Given the description of an element on the screen output the (x, y) to click on. 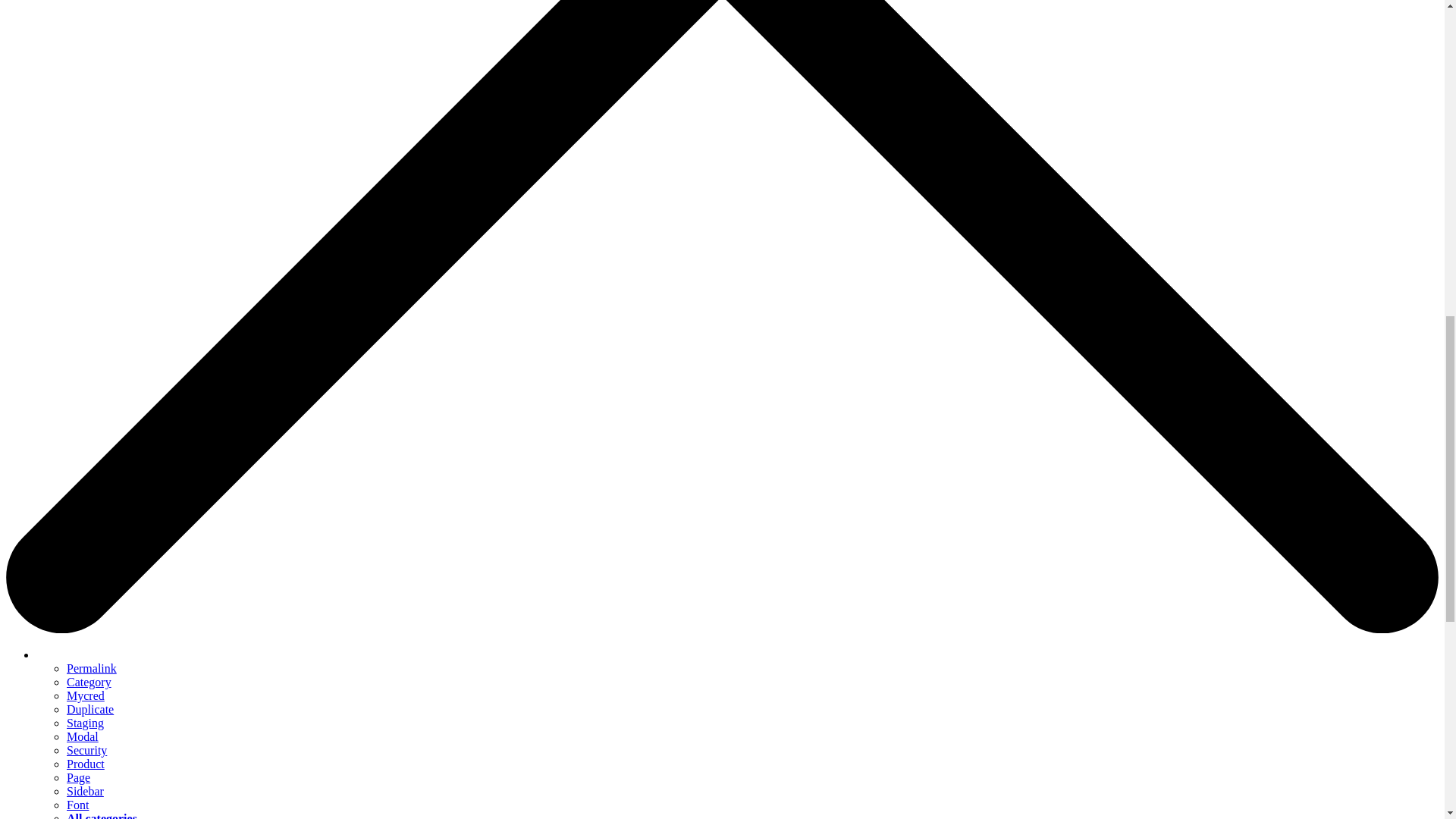
Page (78, 777)
Staging (84, 722)
Modal (82, 736)
Sidebar (84, 790)
Product (85, 763)
Mycred (85, 695)
Category (89, 681)
All categories (101, 815)
Security (86, 749)
Permalink (91, 667)
